Given the description of an element on the screen output the (x, y) to click on. 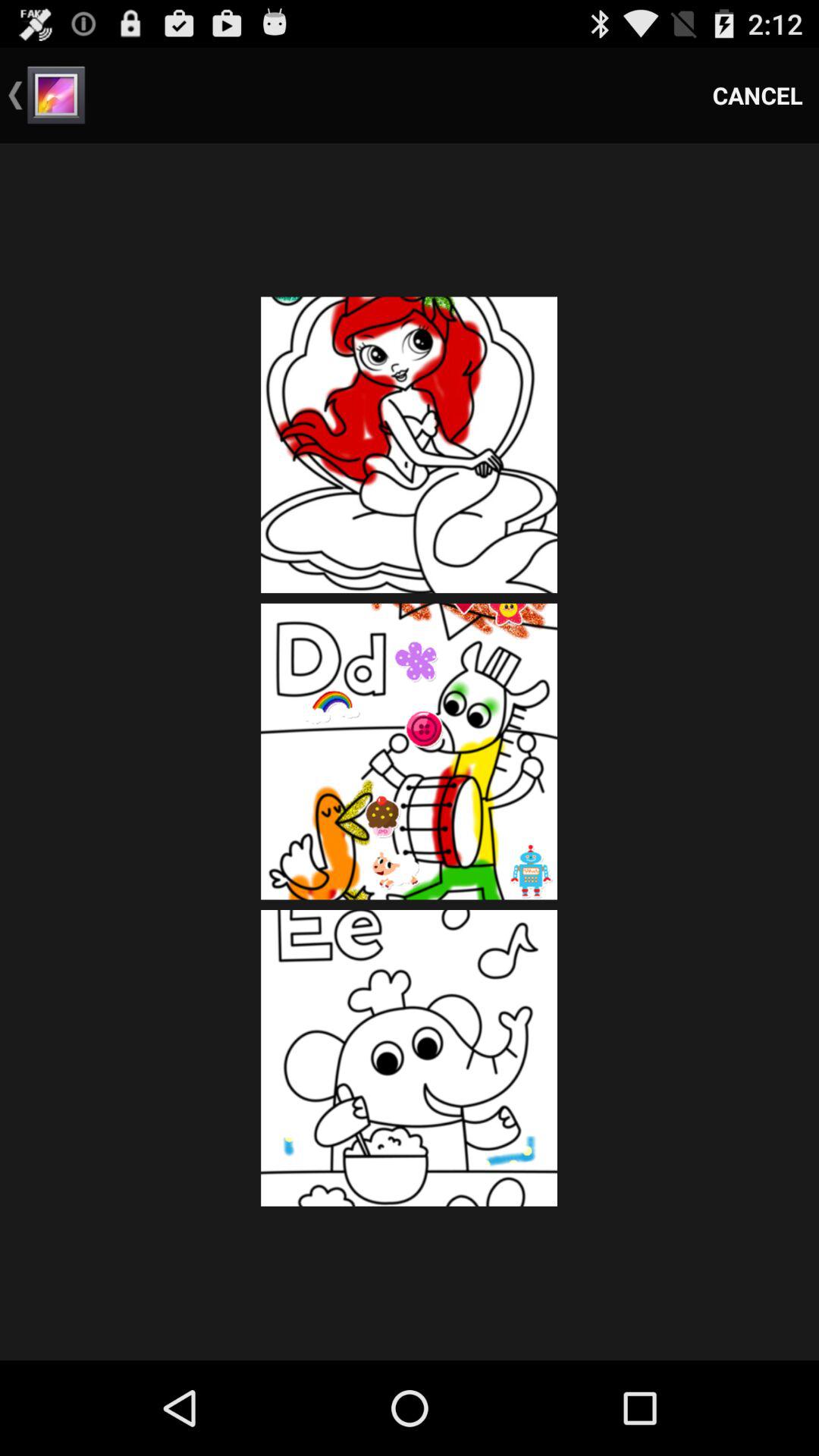
scroll until the cancel item (757, 95)
